Given the description of an element on the screen output the (x, y) to click on. 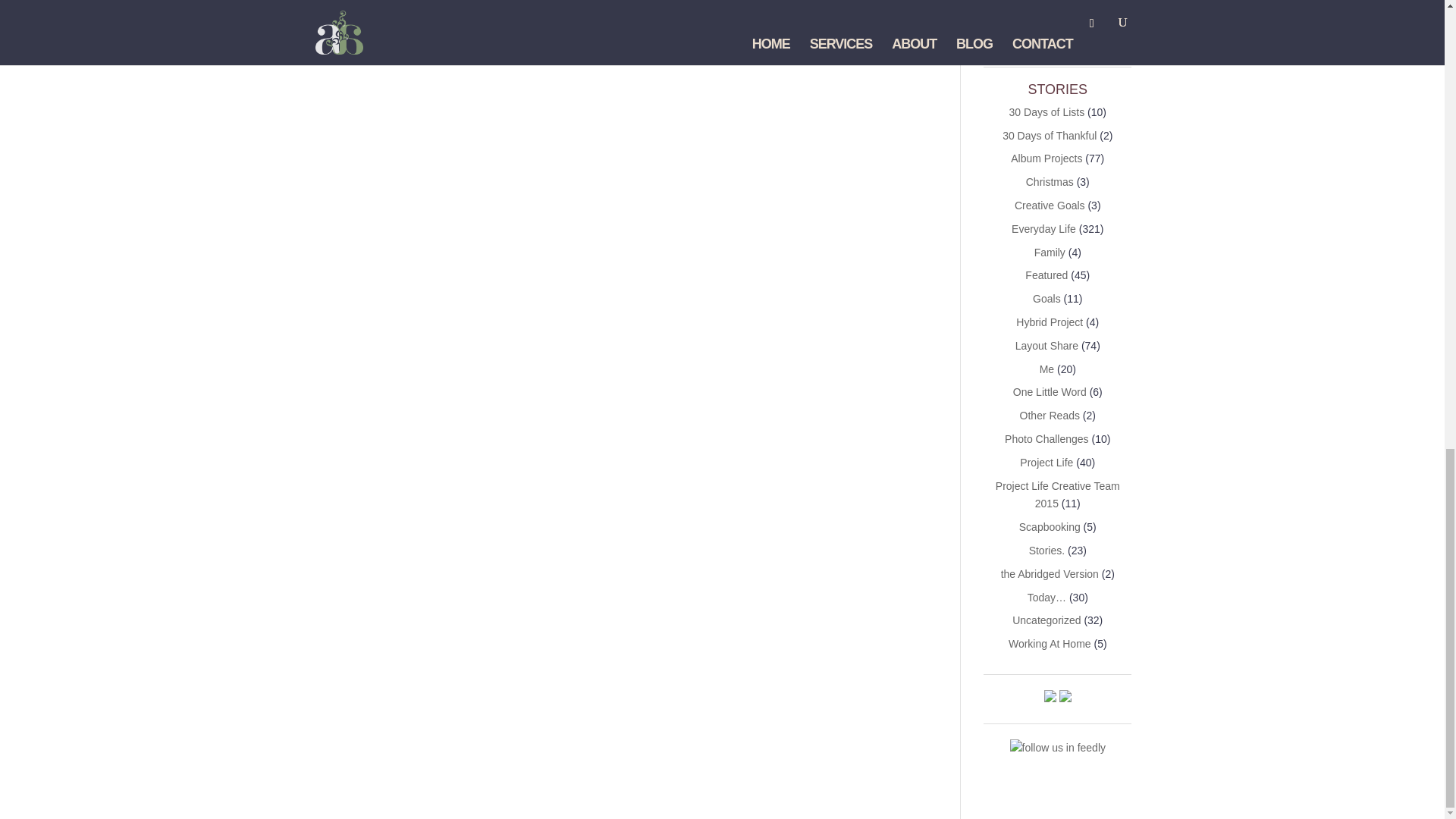
Christmas (1050, 182)
Hybrid Project (1049, 322)
Layout Share (1046, 345)
30 Days of Thankful (1049, 135)
Goals (1046, 298)
Family (1049, 252)
Other Reads (1050, 415)
Creative Goals (1049, 205)
Everyday Life (1043, 228)
30 Days of Lists (1046, 111)
